Given the description of an element on the screen output the (x, y) to click on. 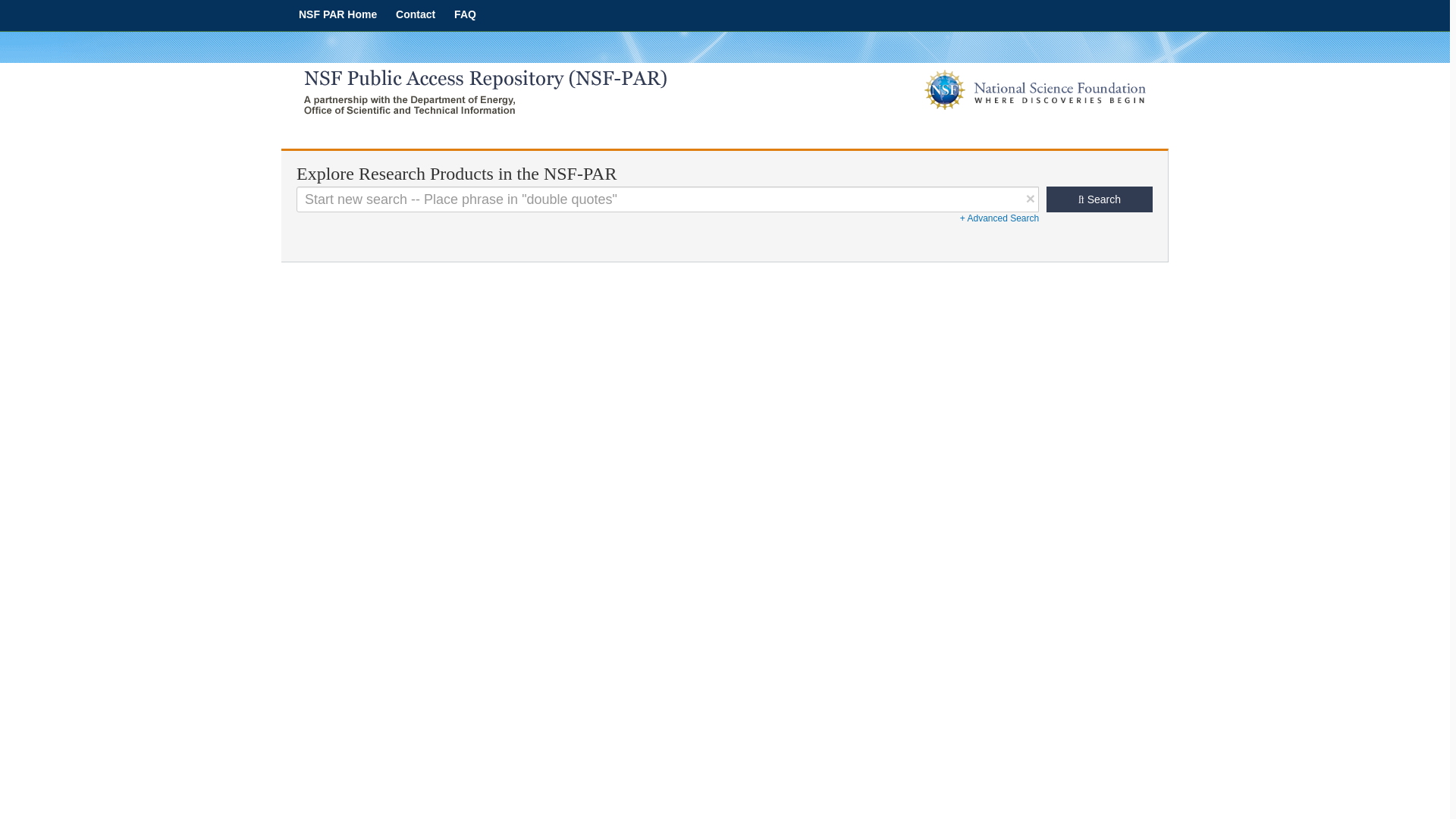
FAQ (464, 14)
Search (1099, 199)
NSF PAR Contact (415, 14)
Contact (415, 14)
NSF PAR FAQ (464, 14)
NSF PAR Home (337, 14)
NSF PAR Home (337, 14)
